Given the description of an element on the screen output the (x, y) to click on. 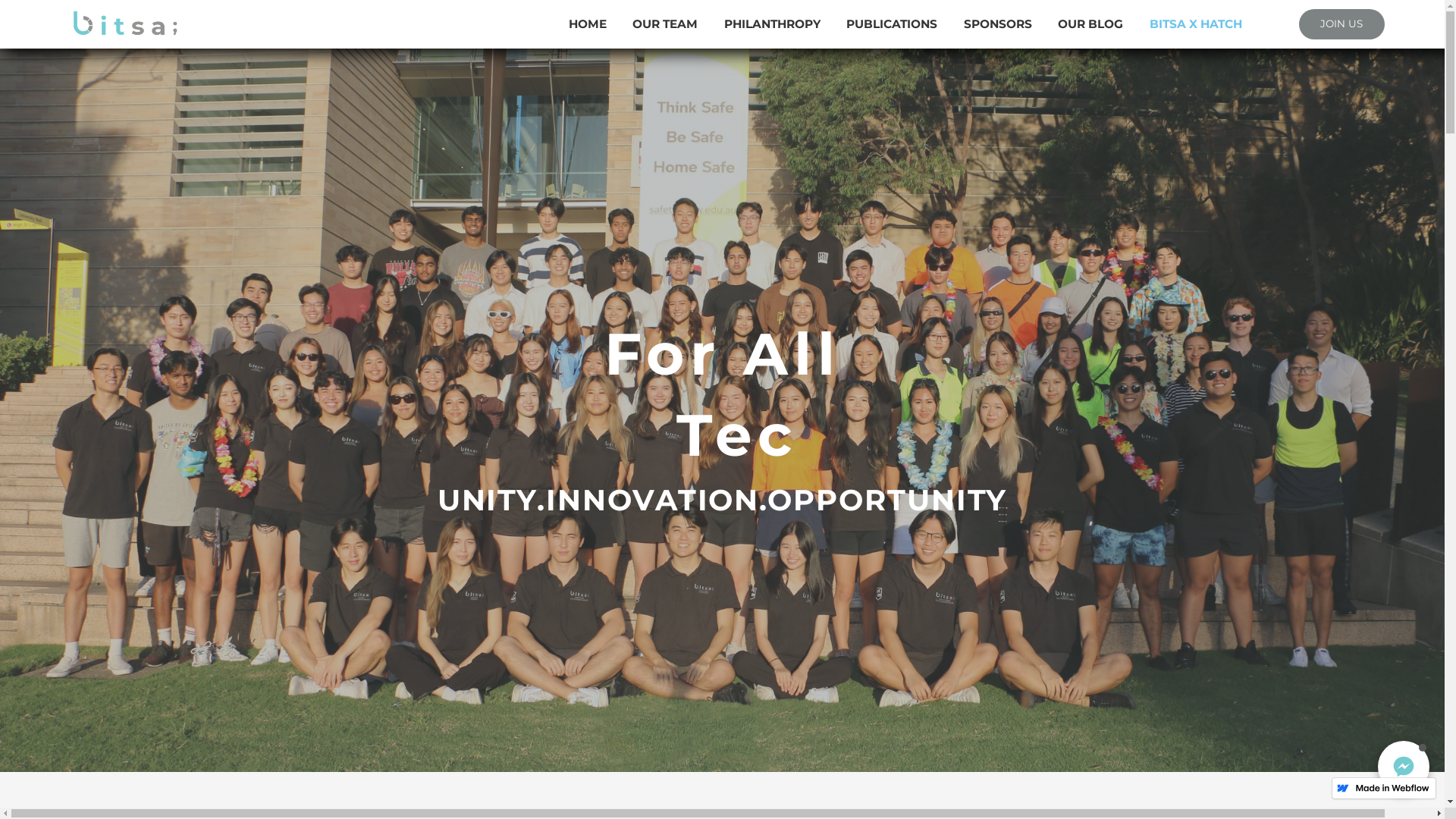
SPONSORS Element type: text (997, 23)
HOME Element type: text (587, 23)
PUBLICATIONS Element type: text (891, 23)
PHILANTHROPY Element type: text (772, 23)
BITSA X HATCH Element type: text (1195, 23)
OUR TEAM Element type: text (664, 23)
JOIN US Element type: text (1342, 24)
OUR BLOG Element type: text (1090, 23)
